Given the description of an element on the screen output the (x, y) to click on. 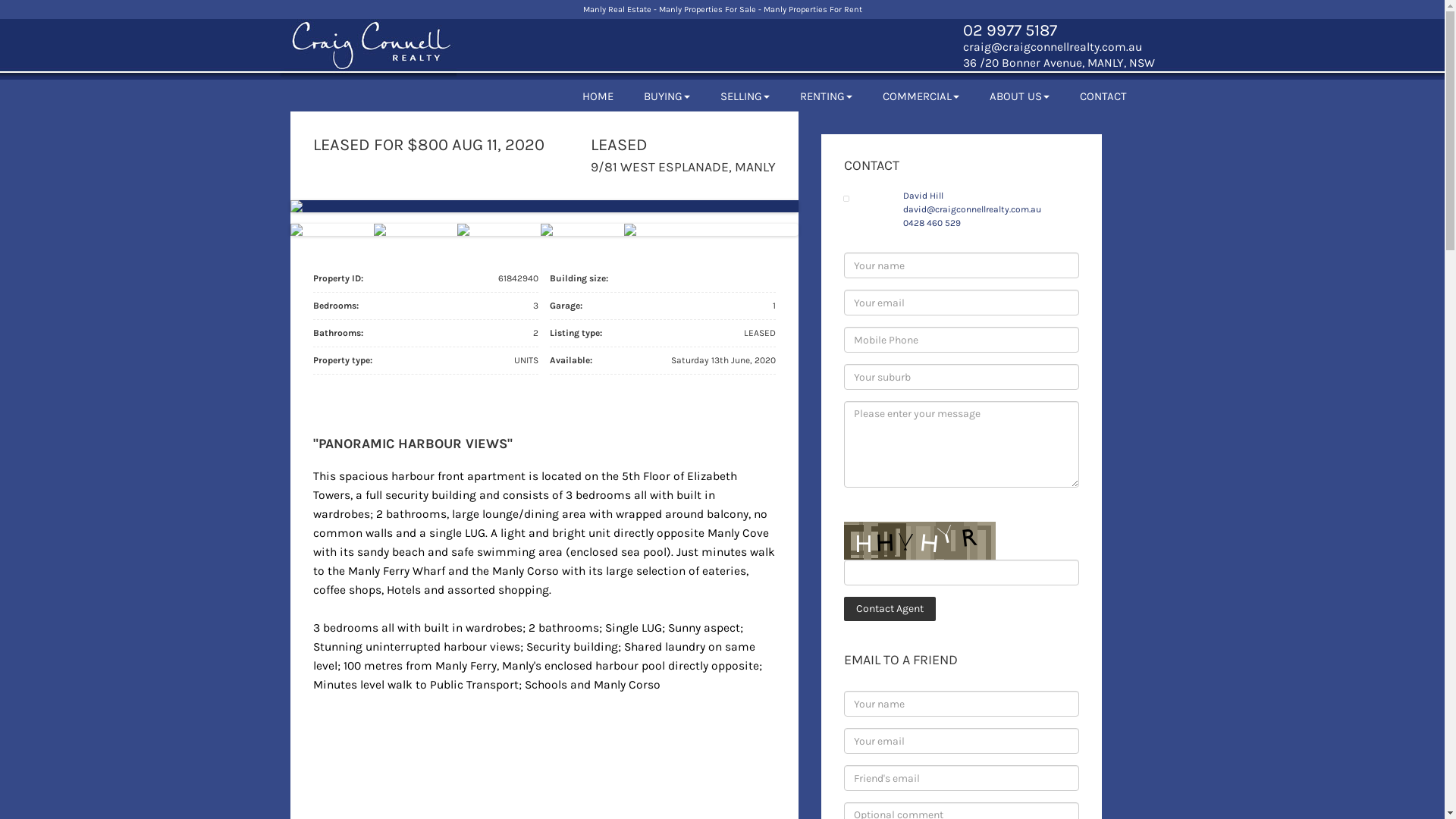
Contact Agent Element type: text (889, 608)
02 9977 5187 Element type: text (1010, 30)
SELLING Element type: text (744, 95)
ABOUT US Element type: text (1018, 95)
Craig Connell Realty Logo Element type: hover (366, 48)
craig@craigconnellrealty.com.au Element type: text (1052, 46)
david@craigconnellrealty.com.au Element type: text (971, 208)
David Hill Element type: text (922, 195)
0428 460 529 Element type: text (931, 222)
COMMERCIAL Element type: text (920, 95)
CONTACT Element type: text (1103, 95)
HOME Element type: text (597, 95)
RENTING Element type: text (825, 95)
BUYING Element type: text (665, 95)
* Please provide valid phone number Element type: hover (960, 339)
